Given the description of an element on the screen output the (x, y) to click on. 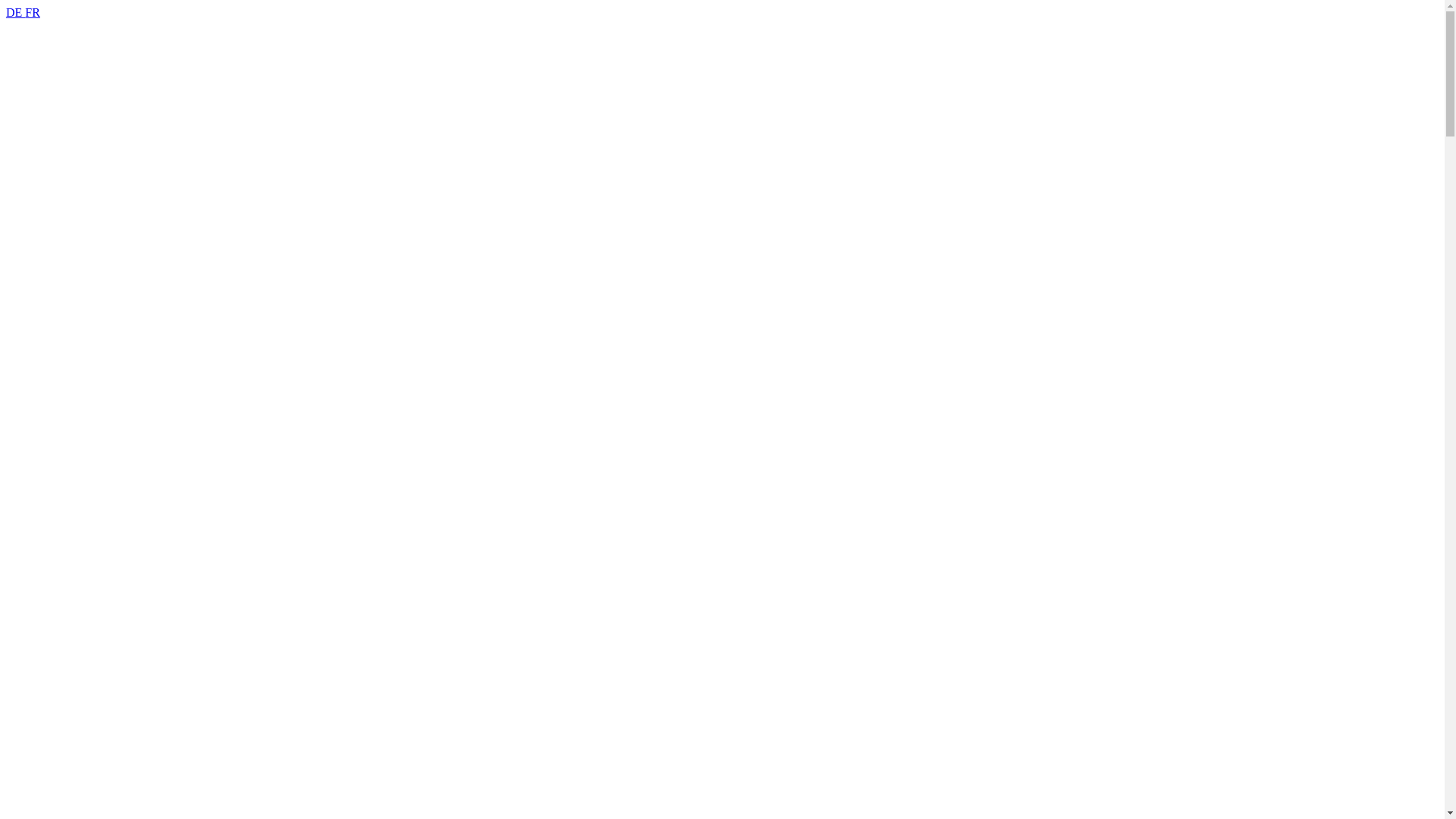
FR Element type: text (32, 12)
DE Element type: text (15, 12)
